Given the description of an element on the screen output the (x, y) to click on. 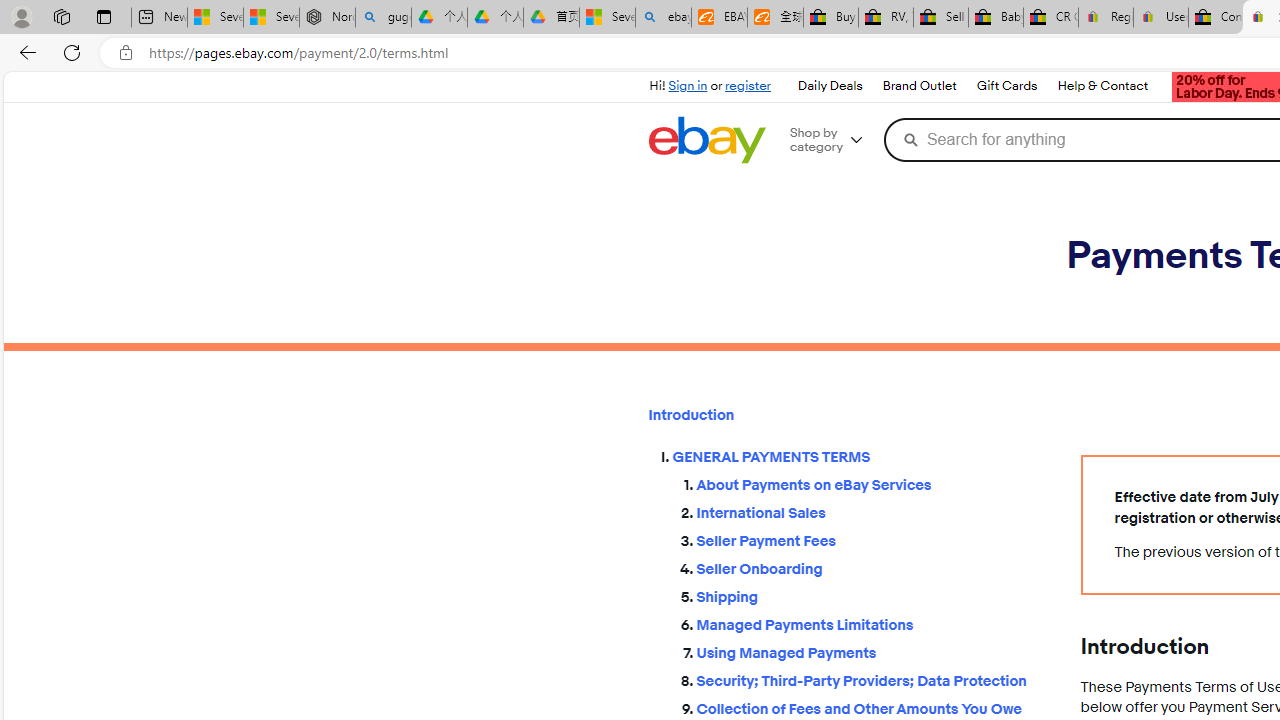
Seller Payment Fees (872, 537)
About Payments on eBay Services (872, 481)
Shipping (872, 596)
Managed Payments Limitations (872, 620)
eBay Home (706, 139)
Brand Outlet (918, 85)
Brand Outlet (919, 86)
About Payments on eBay Services (872, 485)
Seller Onboarding (872, 569)
